Given the description of an element on the screen output the (x, y) to click on. 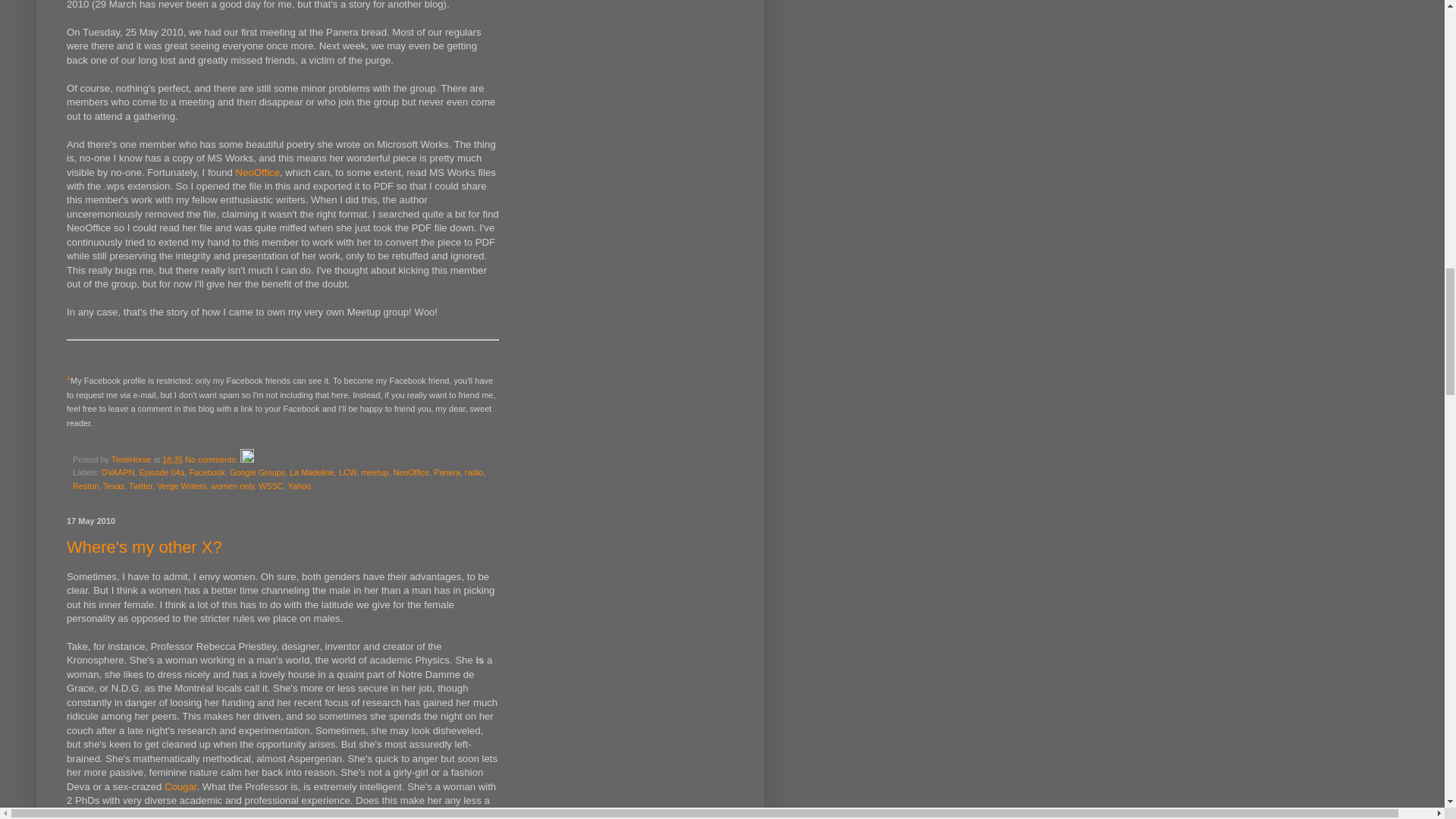
Edit Post (246, 459)
La Madeline (311, 471)
NeoOffice (257, 172)
Twitter (140, 485)
Panera (446, 471)
18:35 (172, 459)
radio (473, 471)
DVAAPN (118, 471)
author profile (132, 459)
Facebook (206, 471)
meetup (374, 471)
women only (232, 485)
No comments: (212, 459)
LCW (347, 471)
permanent link (172, 459)
